Given the description of an element on the screen output the (x, y) to click on. 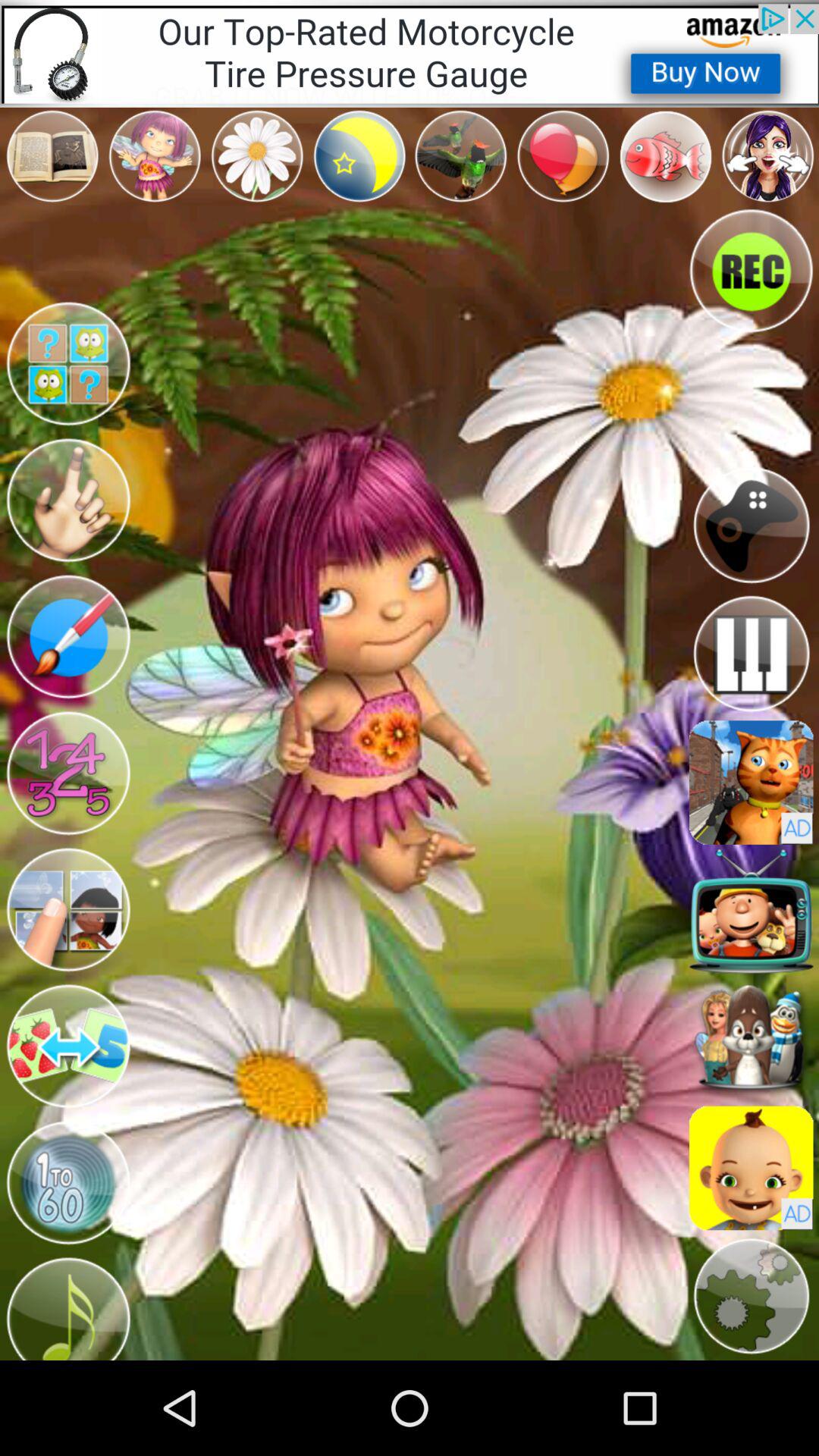
color in (68, 500)
